Given the description of an element on the screen output the (x, y) to click on. 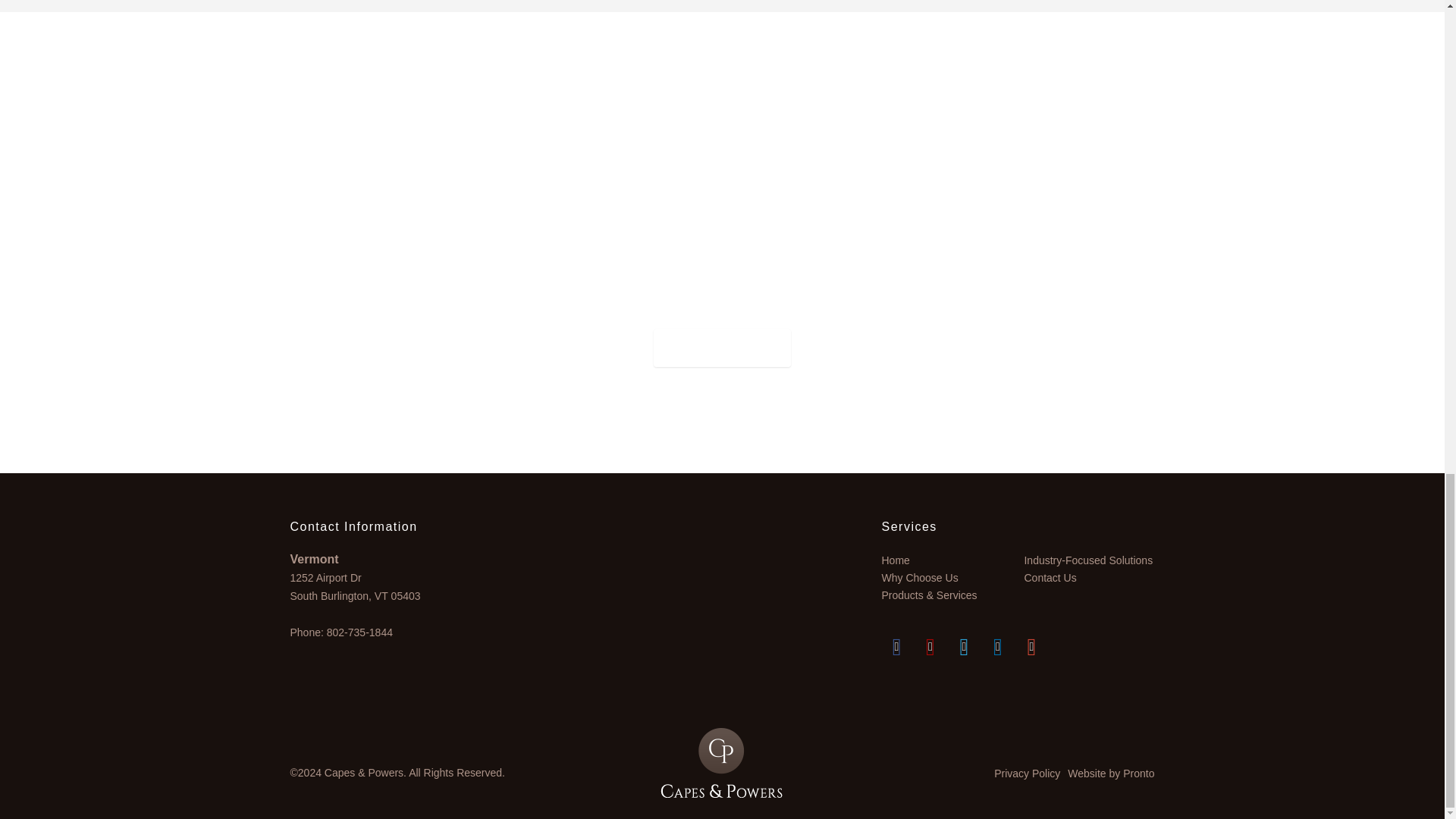
Home (945, 560)
Contact Us (721, 348)
